Given the description of an element on the screen output the (x, y) to click on. 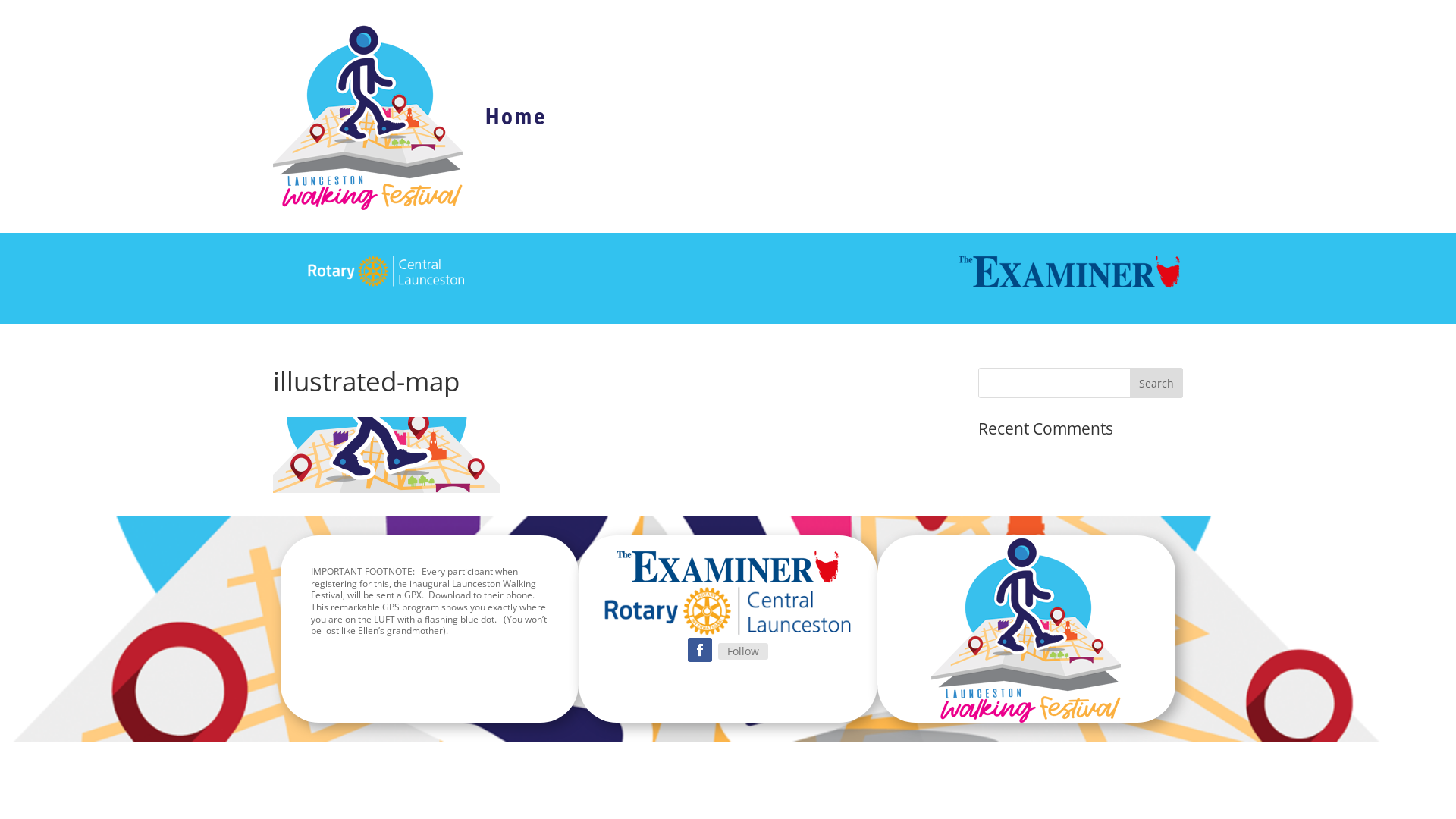
Search Element type: text (1156, 382)
Follow on Facebook Element type: hover (699, 649)
Home Element type: text (515, 116)
Follow Element type: text (743, 651)
